Given the description of an element on the screen output the (x, y) to click on. 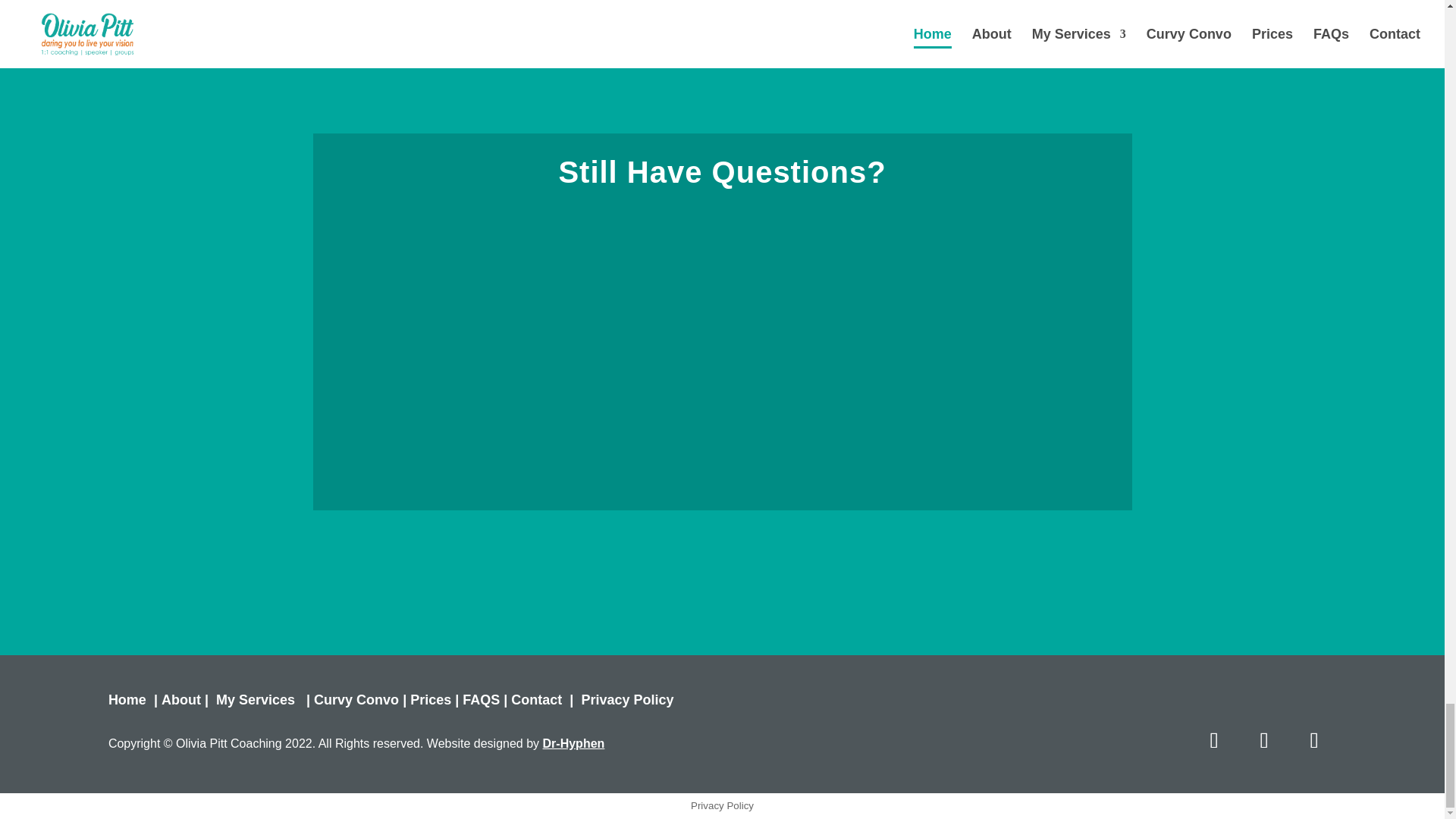
Follow on Facebook (1314, 740)
Dr-Hyphen (574, 743)
About (180, 699)
Curvy Convo (356, 699)
Prices (430, 699)
My Services (255, 699)
Follow on Instagram (1263, 740)
Contact (536, 699)
Privacy Policy (626, 699)
Home (127, 699)
